Given the description of an element on the screen output the (x, y) to click on. 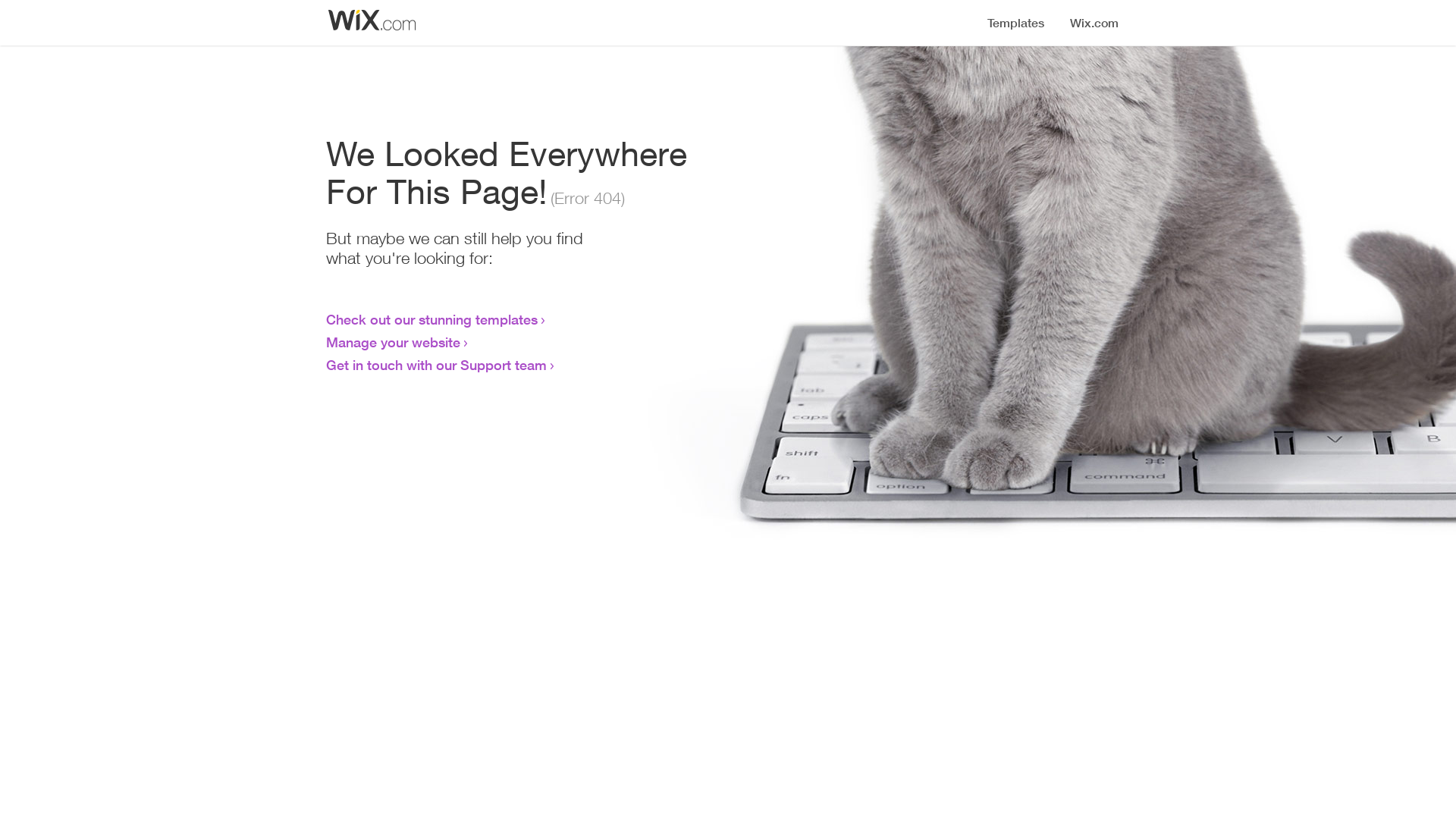
Check out our stunning templates Element type: text (431, 318)
Get in touch with our Support team Element type: text (436, 364)
Manage your website Element type: text (393, 341)
